Given the description of an element on the screen output the (x, y) to click on. 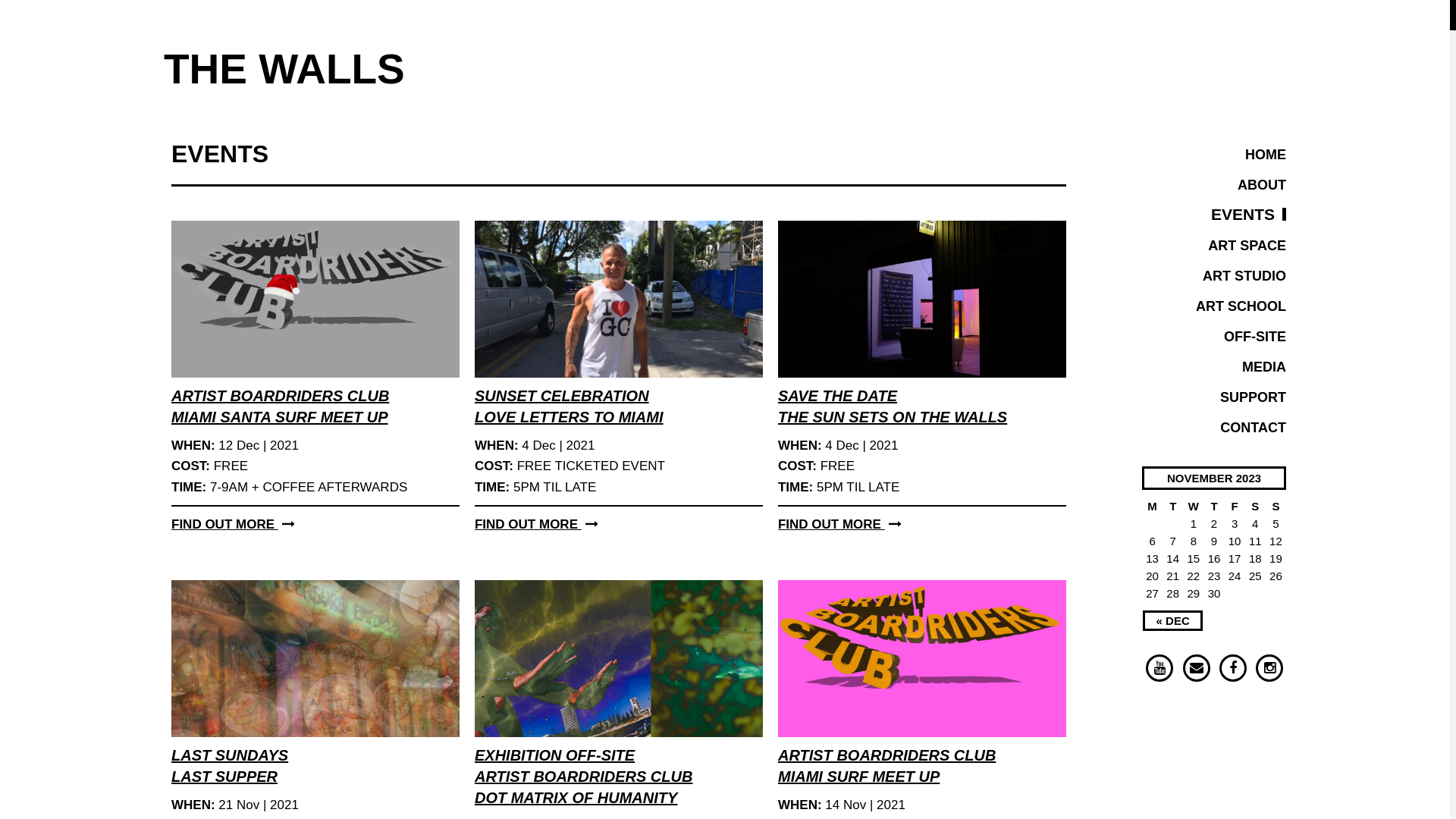
FIND OUT MORE Element type: text (232, 524)
MEDIA Element type: text (1264, 366)
THE WALLS Element type: text (287, 69)
SUPPORT Element type: text (1253, 397)
FIND OUT MORE Element type: text (839, 524)
ART STUDIO Element type: text (1244, 275)
FIND OUT MORE Element type: text (536, 524)
CONTACT Element type: text (1253, 427)
SAVE THE DATE
THE SUN SETS ON THE WALLS Element type: text (892, 406)
SUNSET CELEBRATION
LOVE LETTERS TO MIAMI Element type: text (568, 406)
ARTIST BOARDRIDERS CLUB
MIAMI SURF MEET UP Element type: text (886, 765)
ARTIST BOARDRIDERS CLUB
MIAMI SANTA SURF MEET UP Element type: text (280, 406)
EVENTS Element type: text (1248, 213)
ABOUT Element type: text (1261, 184)
LAST SUNDAYS
LAST SUPPER Element type: text (229, 765)
ART SCHOOL Element type: text (1240, 306)
HOME Element type: text (1265, 154)
OFF-SITE Element type: text (1254, 336)
ART SPACE Element type: text (1247, 245)
